Given the description of an element on the screen output the (x, y) to click on. 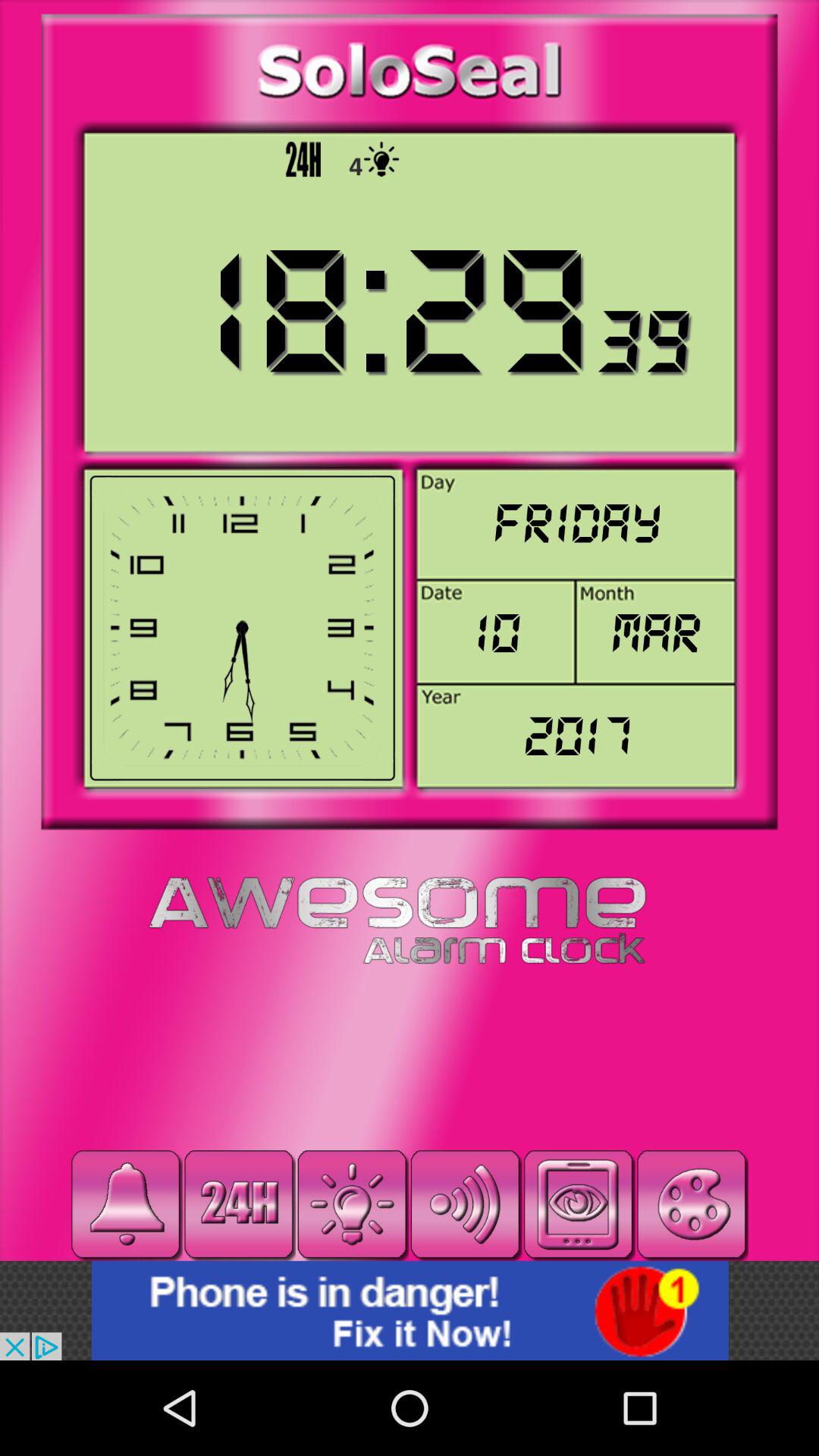
screen page (578, 1203)
